Given the description of an element on the screen output the (x, y) to click on. 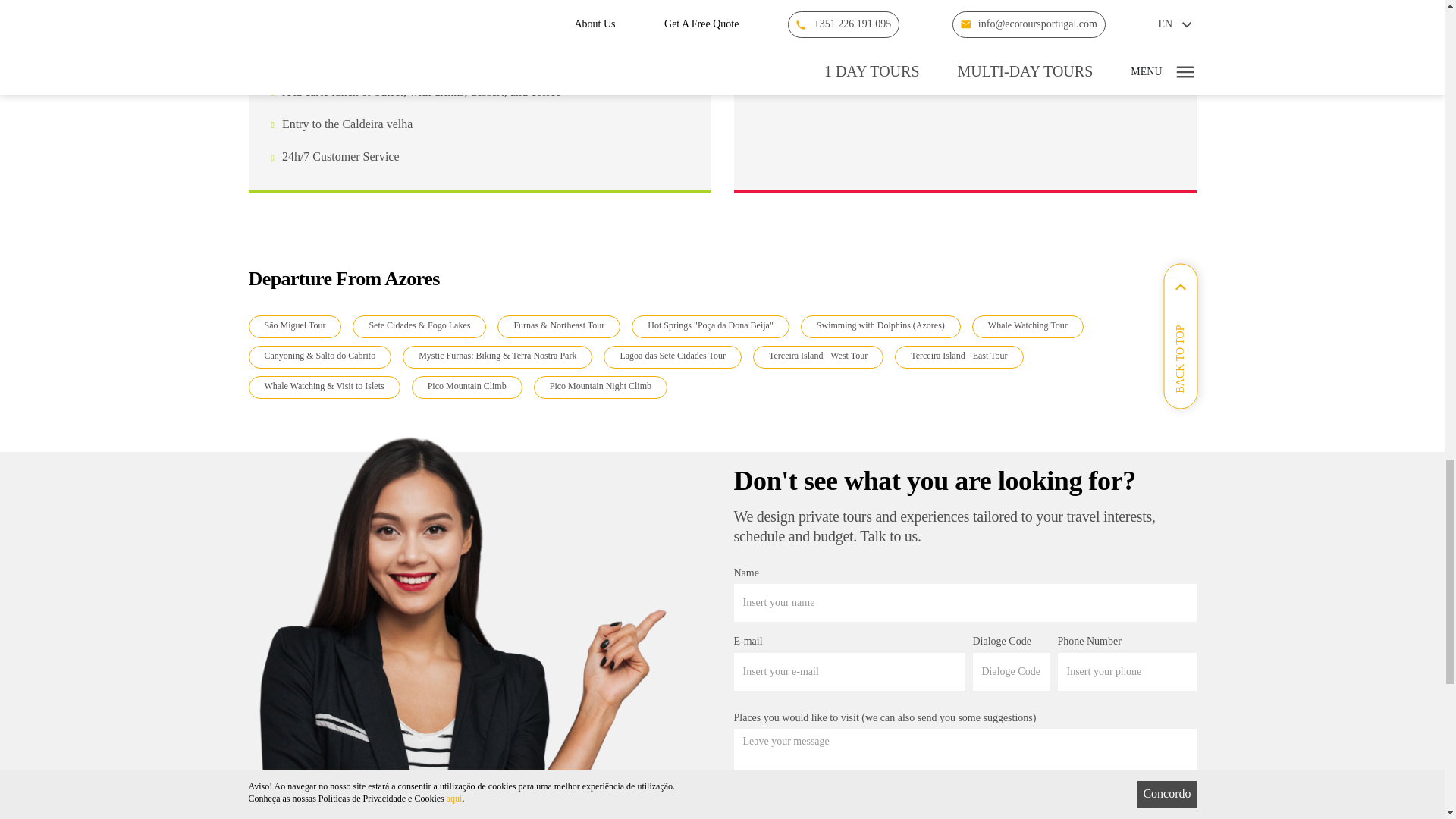
1 (739, 817)
